Given the description of an element on the screen output the (x, y) to click on. 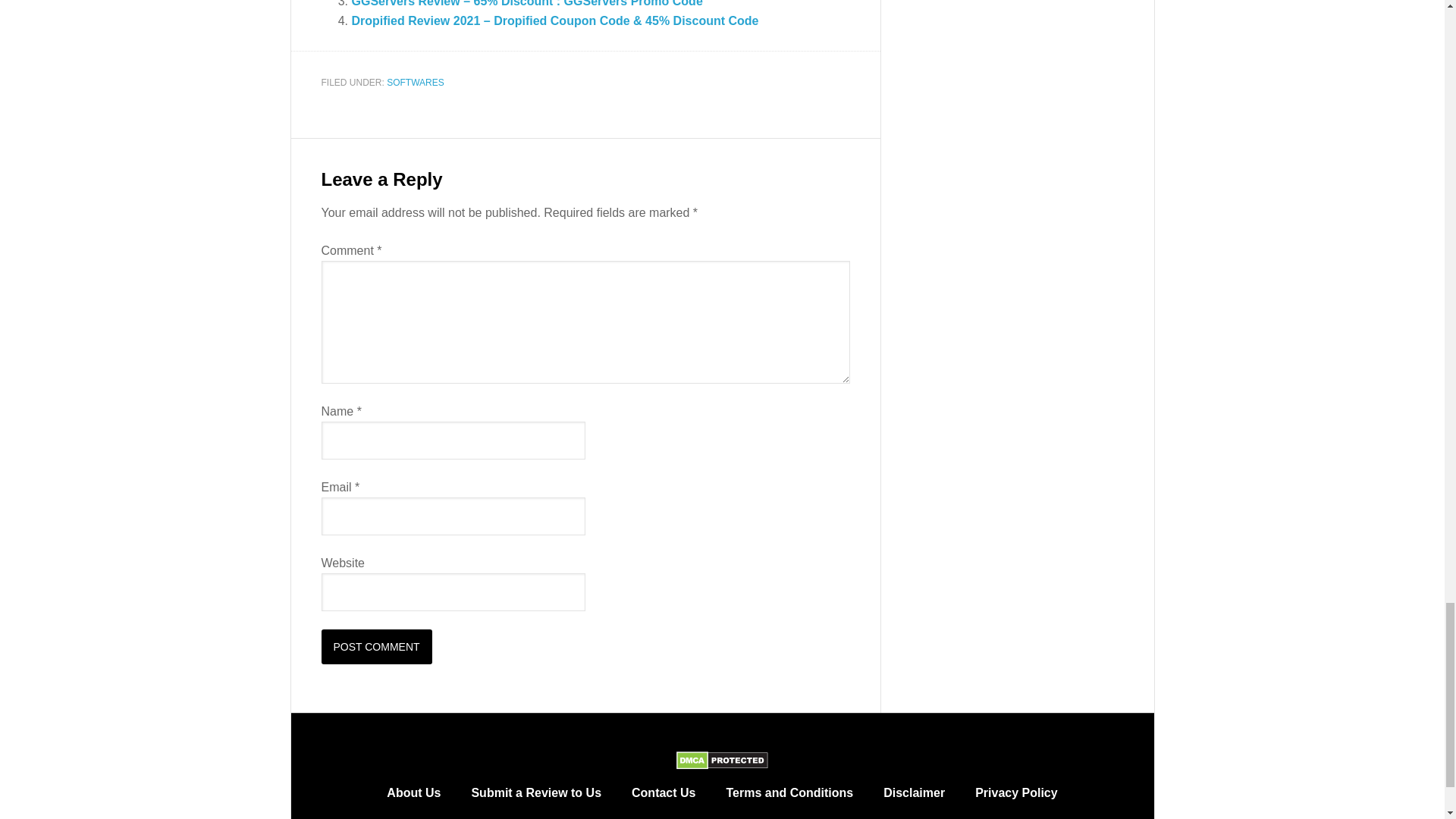
Post Comment (376, 646)
Post Comment (376, 646)
SOFTWARES (415, 81)
DMCA.com Protection Status (722, 762)
